Given the description of an element on the screen output the (x, y) to click on. 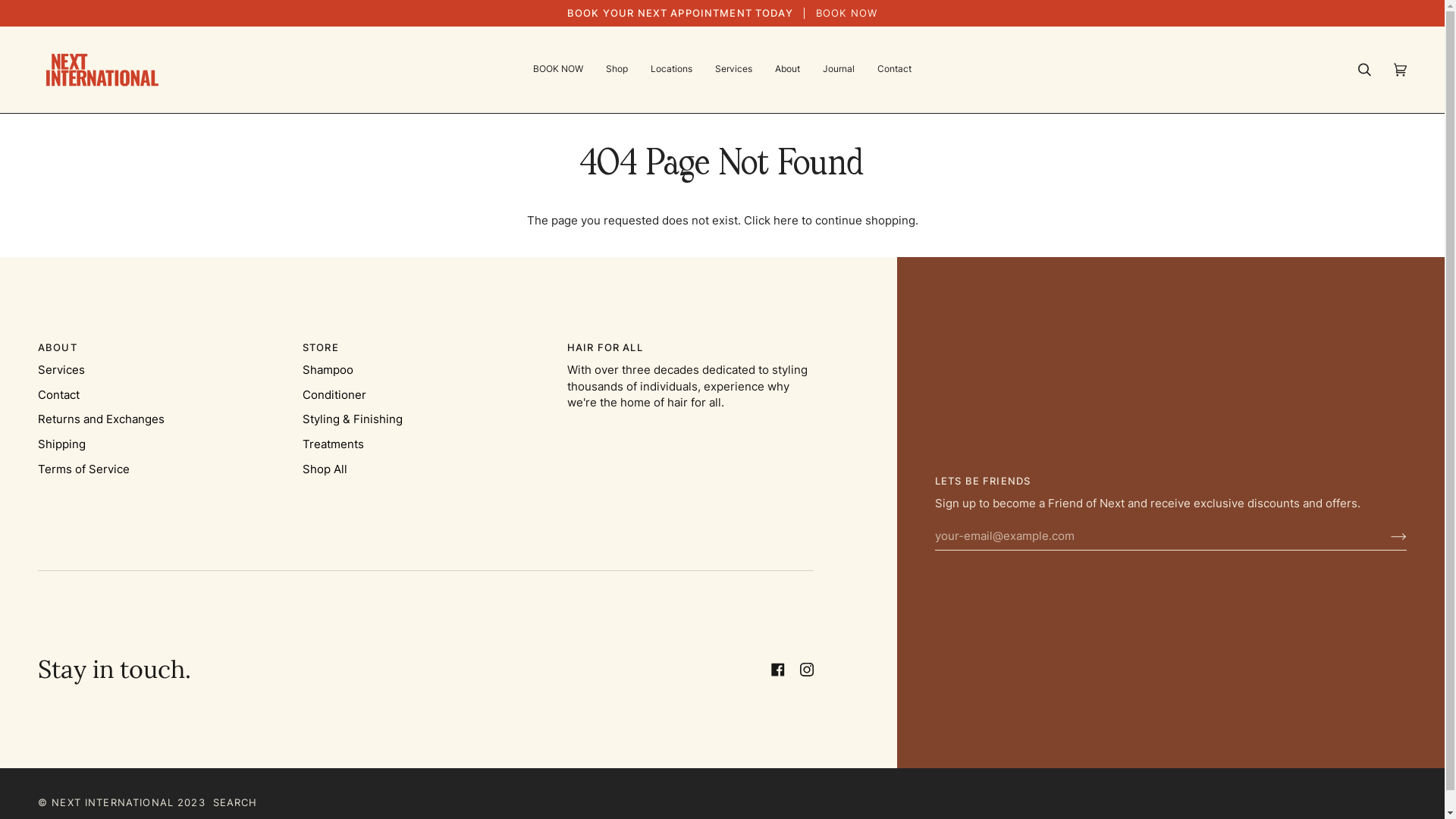
here Element type: text (785, 220)
NEXT INTERNATIONAL Element type: text (112, 802)
Conditioner Element type: text (334, 394)
Cart
(0) Element type: text (1400, 69)
Shop All Element type: text (324, 469)
BOOK NOW Element type: text (557, 69)
Shampoo Element type: text (327, 369)
SEARCH Element type: text (235, 802)
Treatments Element type: text (333, 444)
About Element type: text (787, 69)
Shipping Element type: text (61, 444)
Facebook Element type: text (777, 669)
Terms of Service Element type: text (83, 469)
Returns and Exchanges Element type: text (100, 419)
Instagram Element type: text (806, 669)
Services Element type: text (60, 369)
Services Element type: text (733, 69)
Journal Element type: text (838, 69)
Styling & Finishing Element type: text (352, 419)
Locations Element type: text (671, 69)
Search Element type: text (1364, 69)
Contact Element type: text (894, 69)
Shop Element type: text (616, 69)
Contact Element type: text (58, 394)
